Given the description of an element on the screen output the (x, y) to click on. 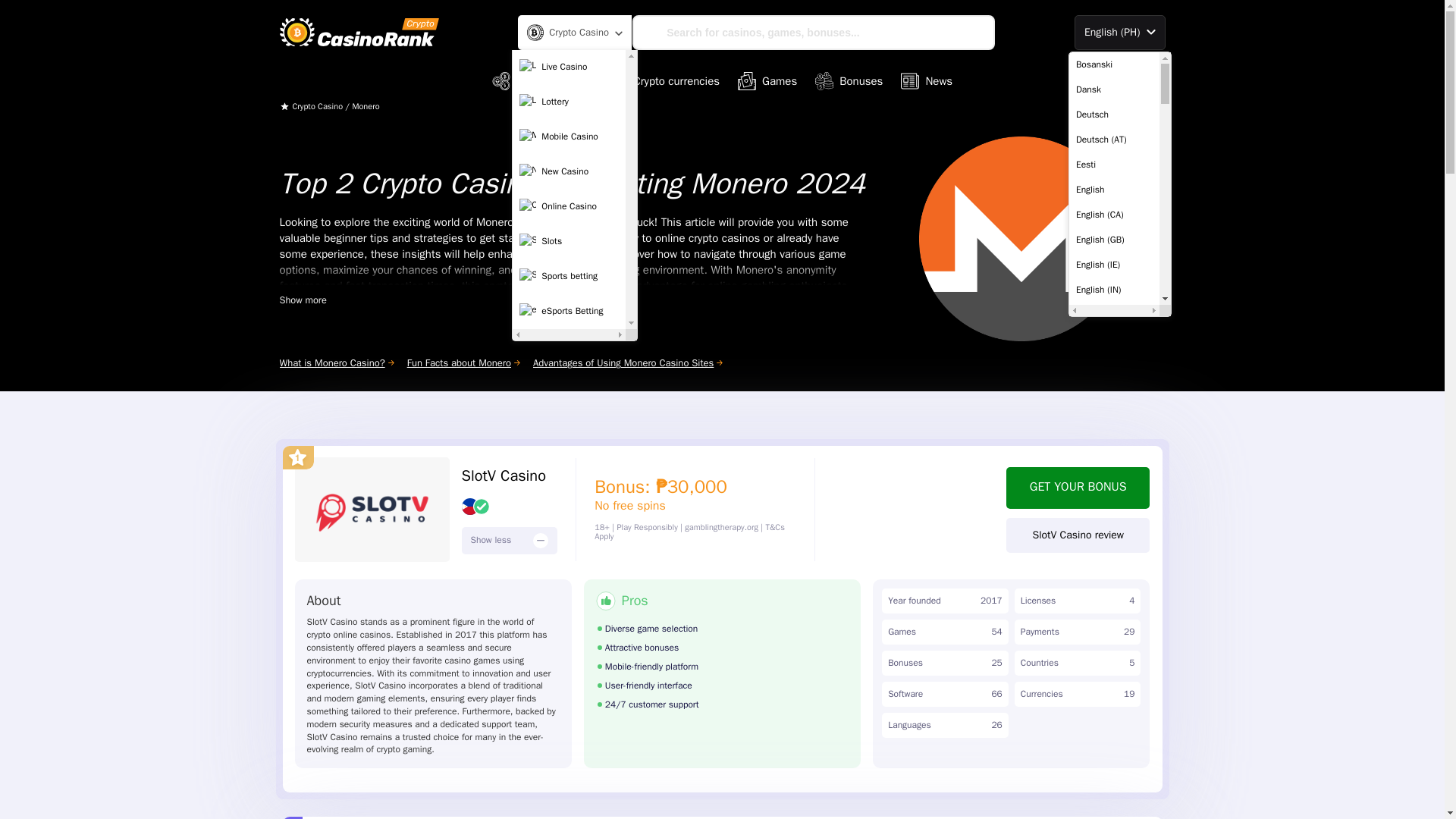
Hrvatski (1113, 664)
Magyar (1113, 790)
Online Casino (569, 206)
Bosanski (1113, 63)
Lottery (569, 102)
Italiano (1113, 714)
eSports Betting (569, 311)
English (1113, 189)
Eesti (1113, 163)
Sports betting (569, 276)
Live Casino (569, 67)
New Casino (569, 172)
Indonesia (1113, 690)
Mobile Casino (569, 136)
Slots (569, 241)
